Given the description of an element on the screen output the (x, y) to click on. 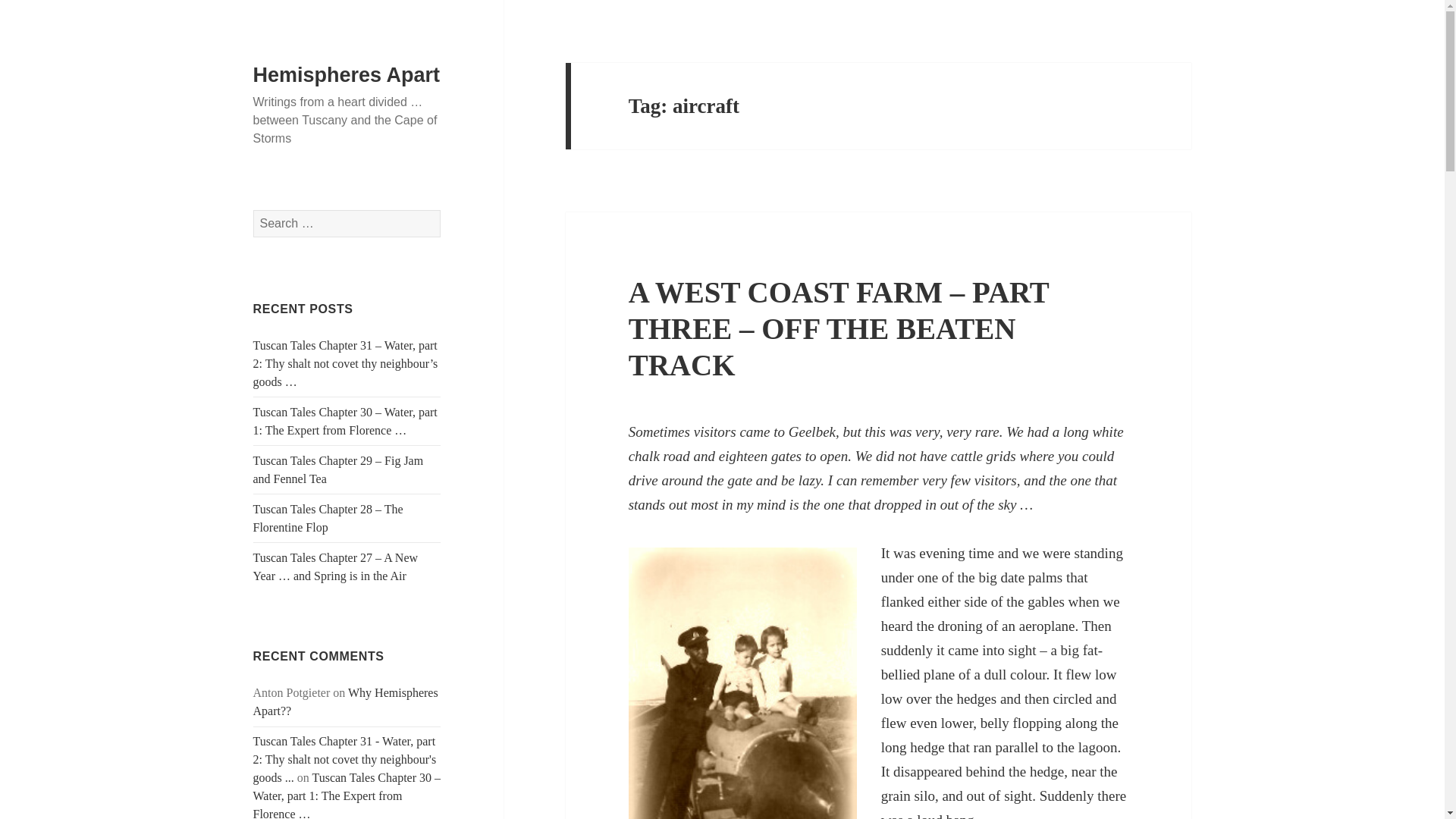
Hemispheres Apart (347, 74)
Why Hemispheres Apart?? (345, 701)
